Given the description of an element on the screen output the (x, y) to click on. 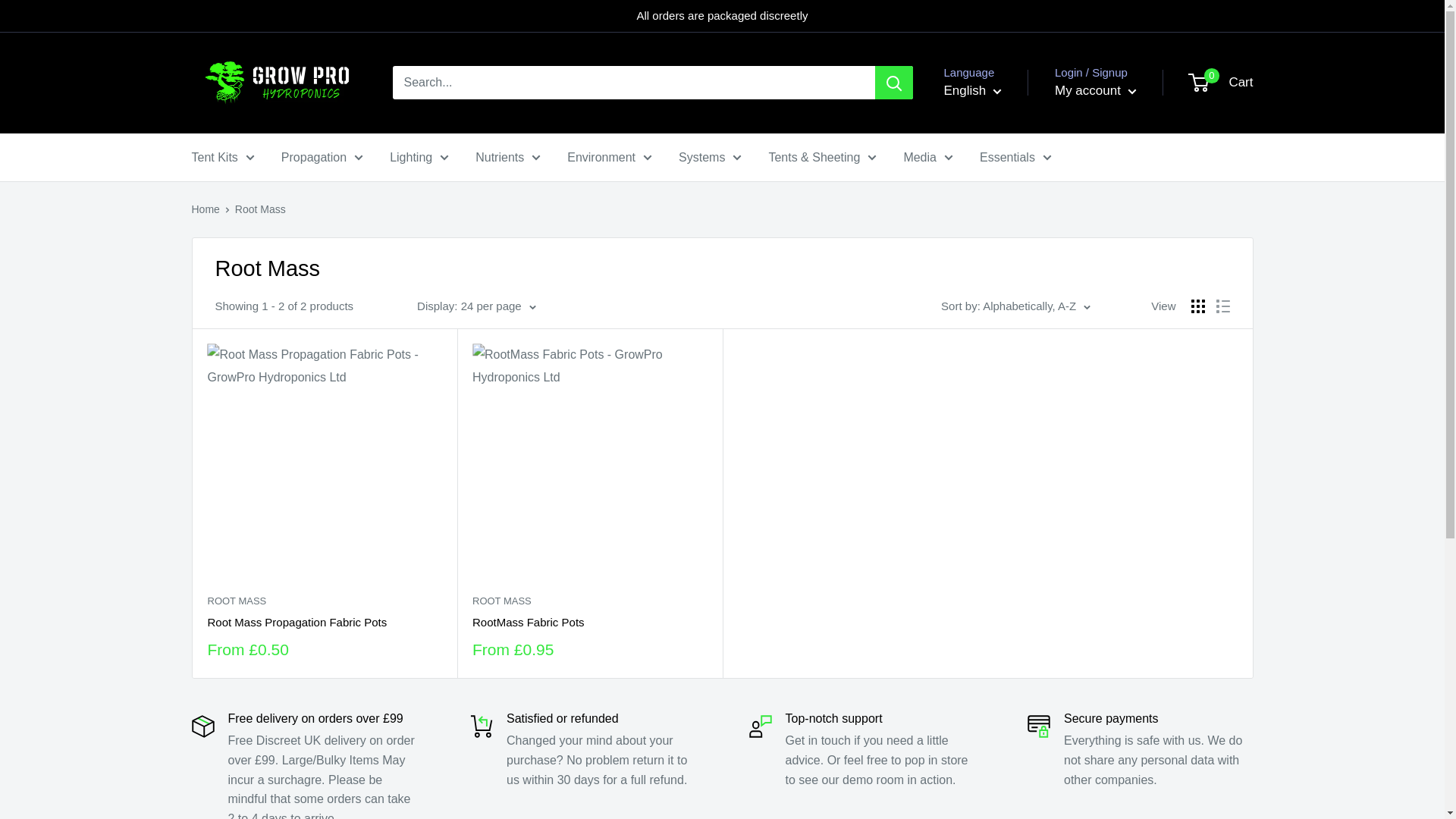
All orders are packaged discreetly (722, 15)
